Given the description of an element on the screen output the (x, y) to click on. 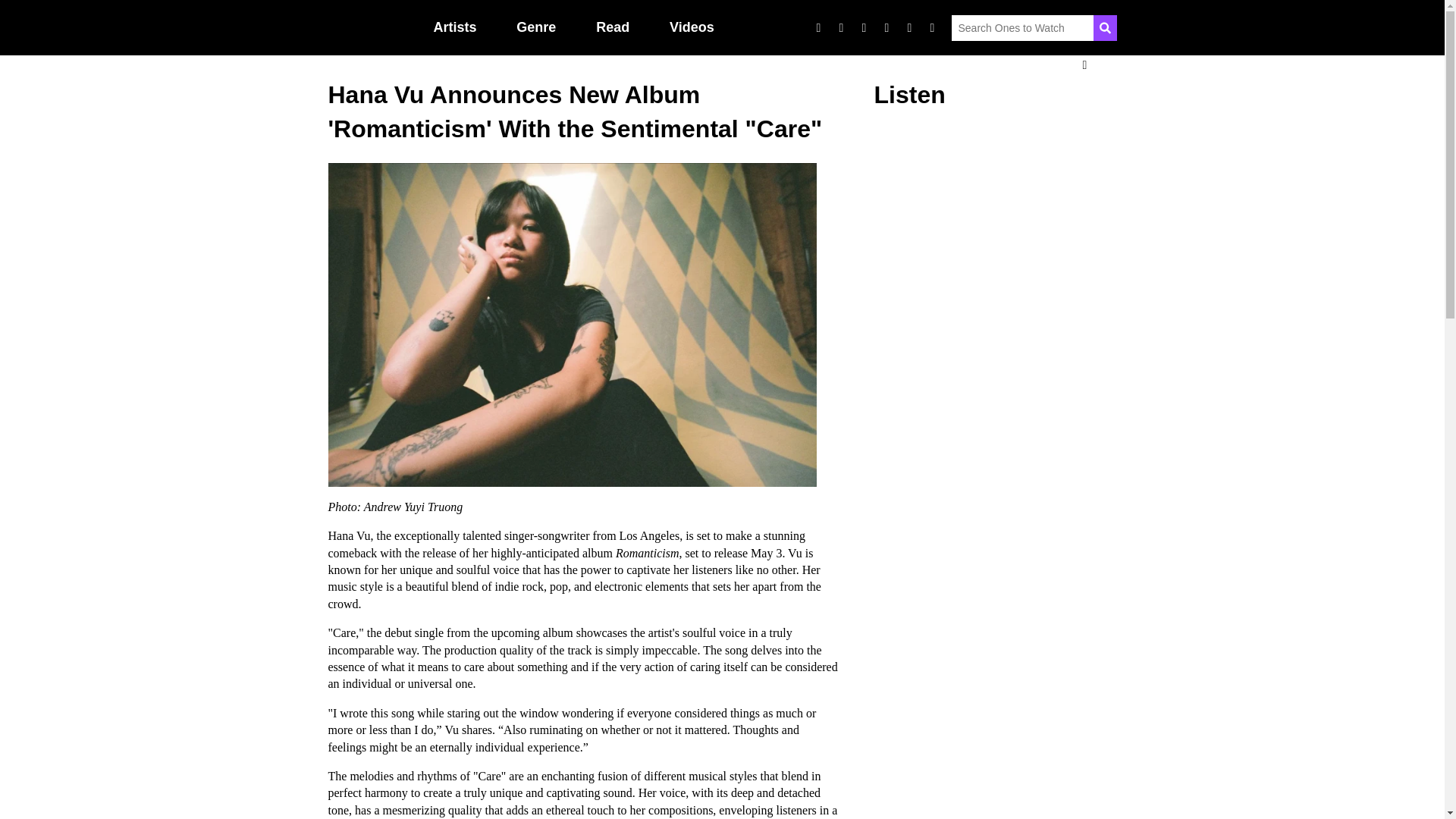
Videos (692, 27)
Artists (455, 27)
Ones2Watch Home (369, 27)
